Given the description of an element on the screen output the (x, y) to click on. 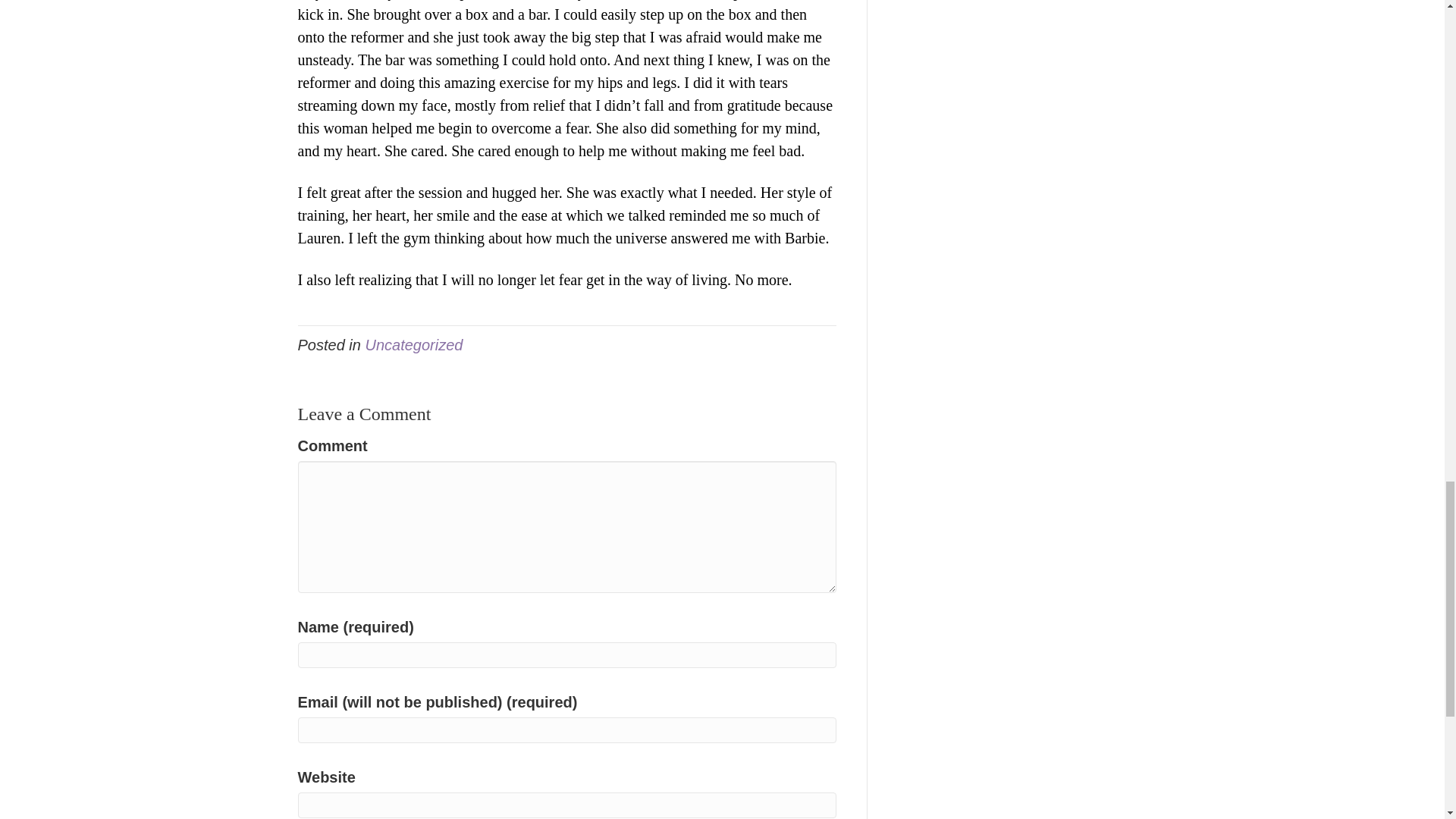
Uncategorized (414, 344)
